Given the description of an element on the screen output the (x, y) to click on. 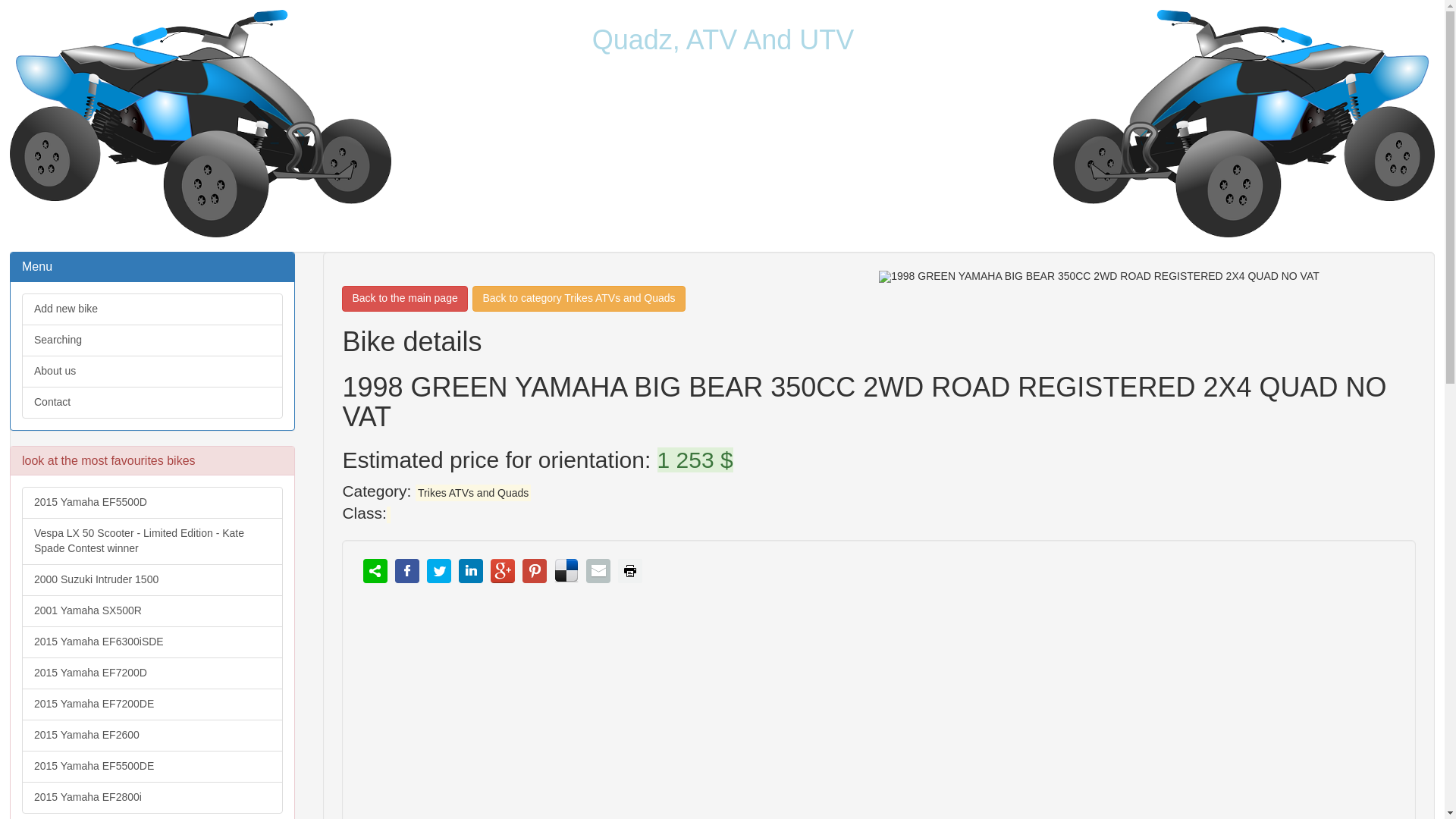
2015 Yamaha EF2800i (151, 798)
2015 Yamaha EF7200D (151, 673)
2015 Yamaha EF2600 (151, 735)
2015 Yamaha EF7200DE (151, 704)
2001 Yamaha SX500R (151, 611)
Add new bike (151, 309)
2015 Yamaha EF6300iSDE (151, 642)
2000 Suzuki Intruder 1500 (151, 580)
Contact (151, 402)
2015 Yamaha EF5500DE (151, 766)
Back to the main page (404, 298)
Back to category Trikes ATVs and Quads (577, 298)
About us (151, 371)
